Given the description of an element on the screen output the (x, y) to click on. 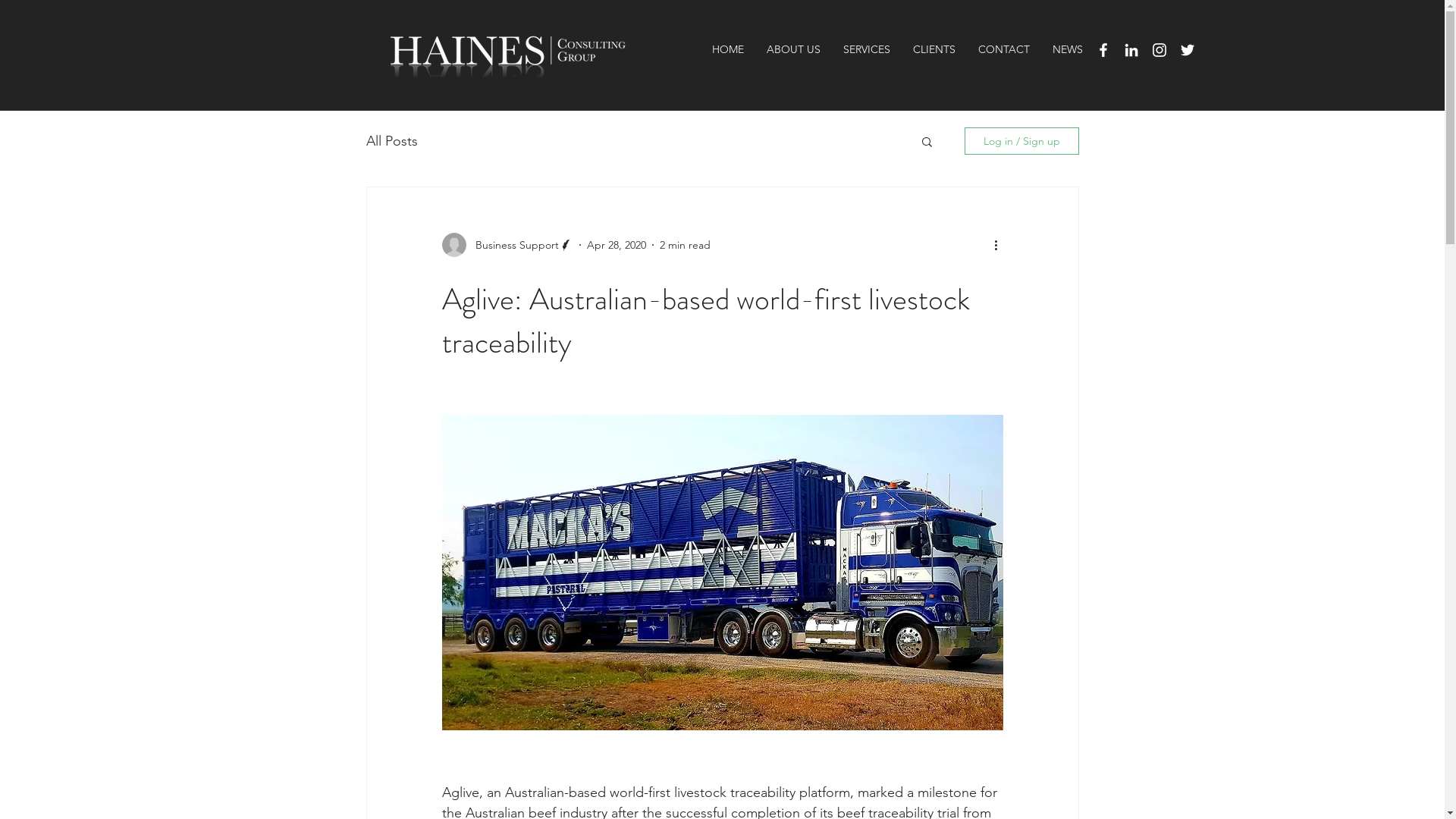
ABOUT US Element type: text (793, 49)
SERVICES Element type: text (865, 49)
HOME Element type: text (727, 49)
CONTACT Element type: text (1003, 49)
CLIENTS Element type: text (933, 49)
NEWS Element type: text (1066, 49)
All Posts Element type: text (391, 140)
Log in / Sign up Element type: text (1021, 140)
